Given the description of an element on the screen output the (x, y) to click on. 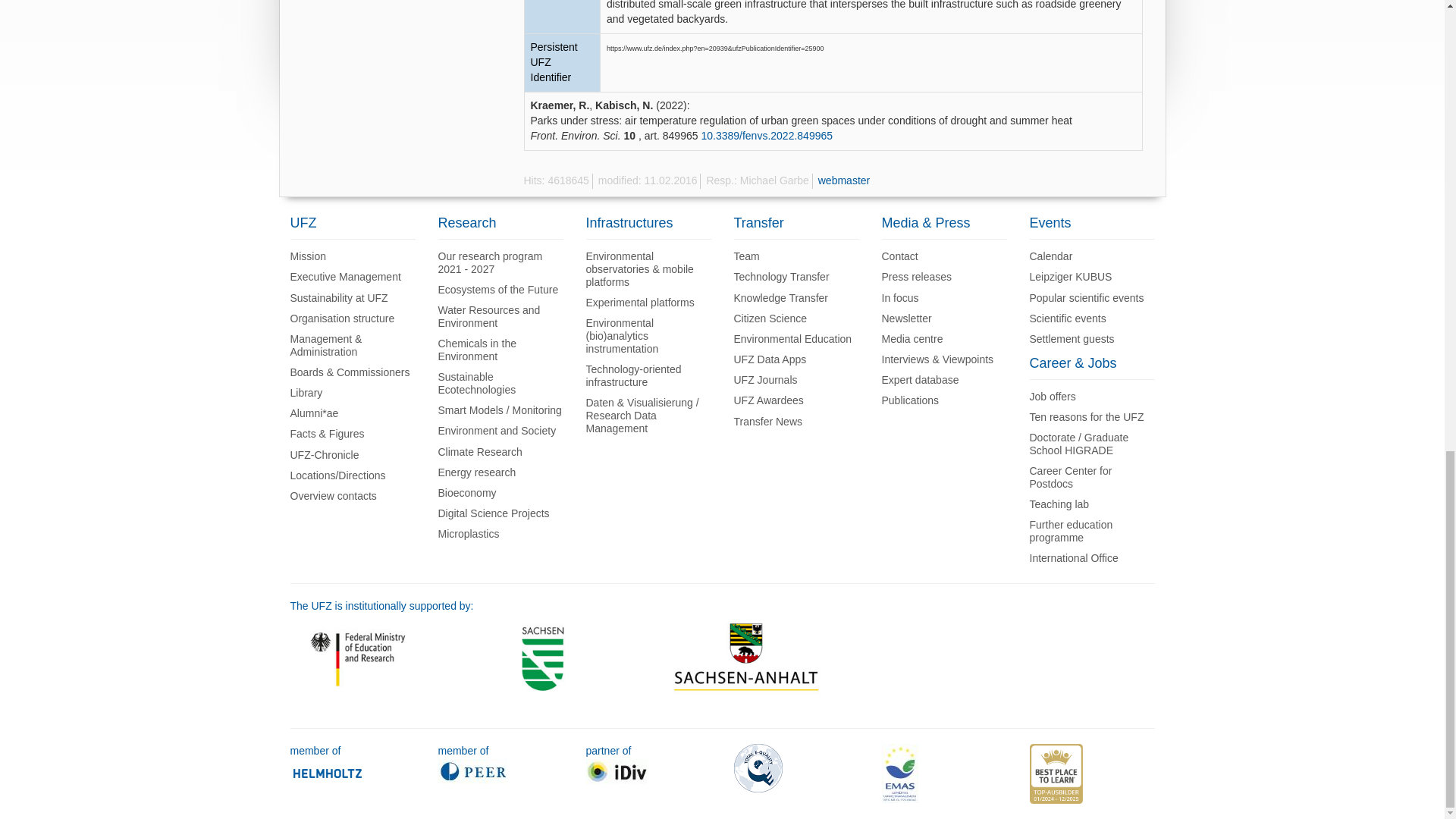
Registered with EMAS (898, 772)
